Given the description of an element on the screen output the (x, y) to click on. 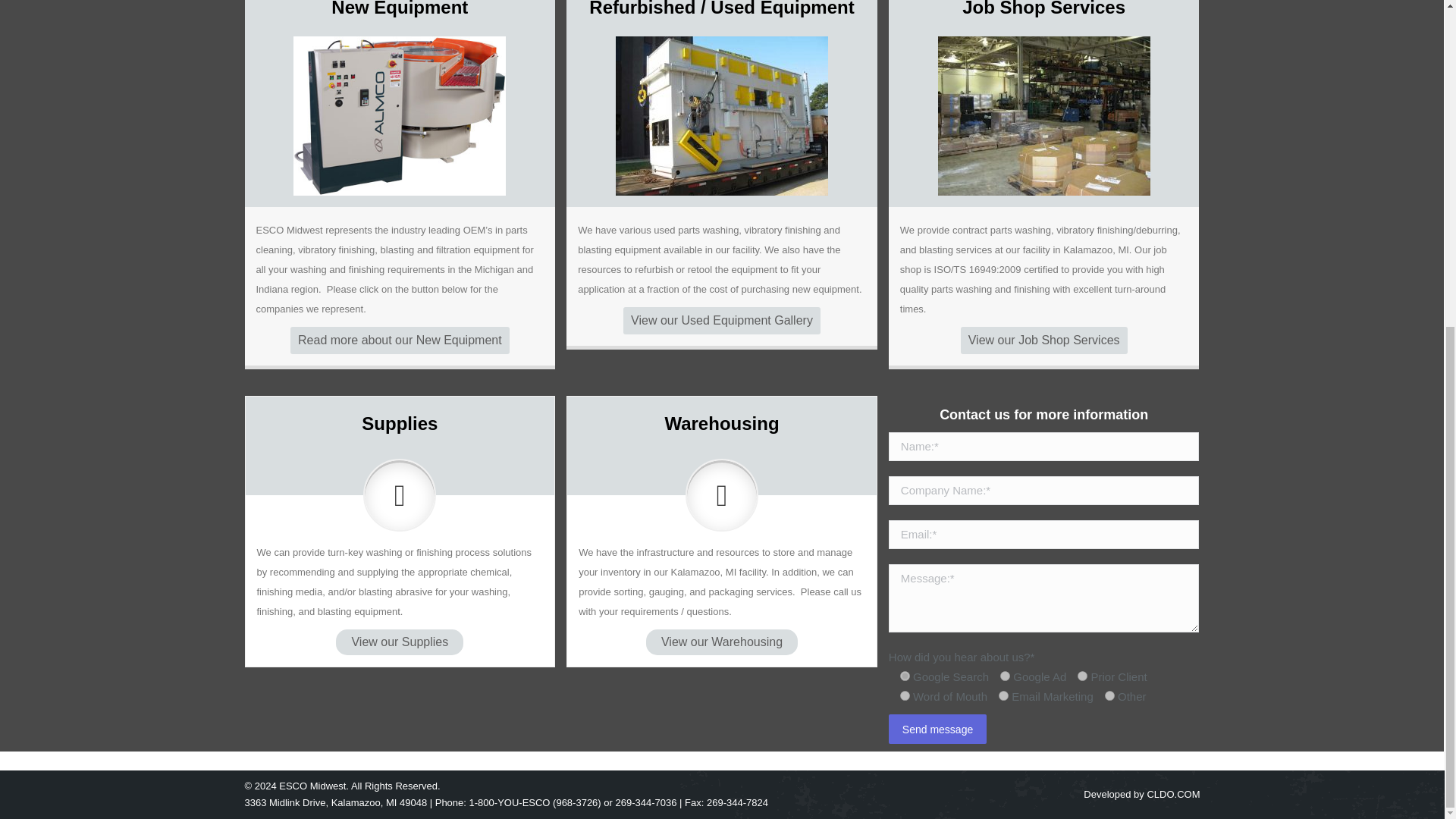
Send message (937, 728)
View our Supplies (399, 642)
Google Ad (1005, 675)
Other (1110, 696)
ESCO Midwest. (314, 247)
Send message (937, 728)
269-344-7036 (645, 264)
View our Warehousing (721, 642)
Email Marketing (1003, 696)
View our Used Equipment Gallery (722, 320)
Word of Mouth (904, 696)
Prior Client (1082, 675)
View our Job Shop Services (1043, 339)
Read more about our New Equipment (399, 339)
Google Search (904, 675)
